Given the description of an element on the screen output the (x, y) to click on. 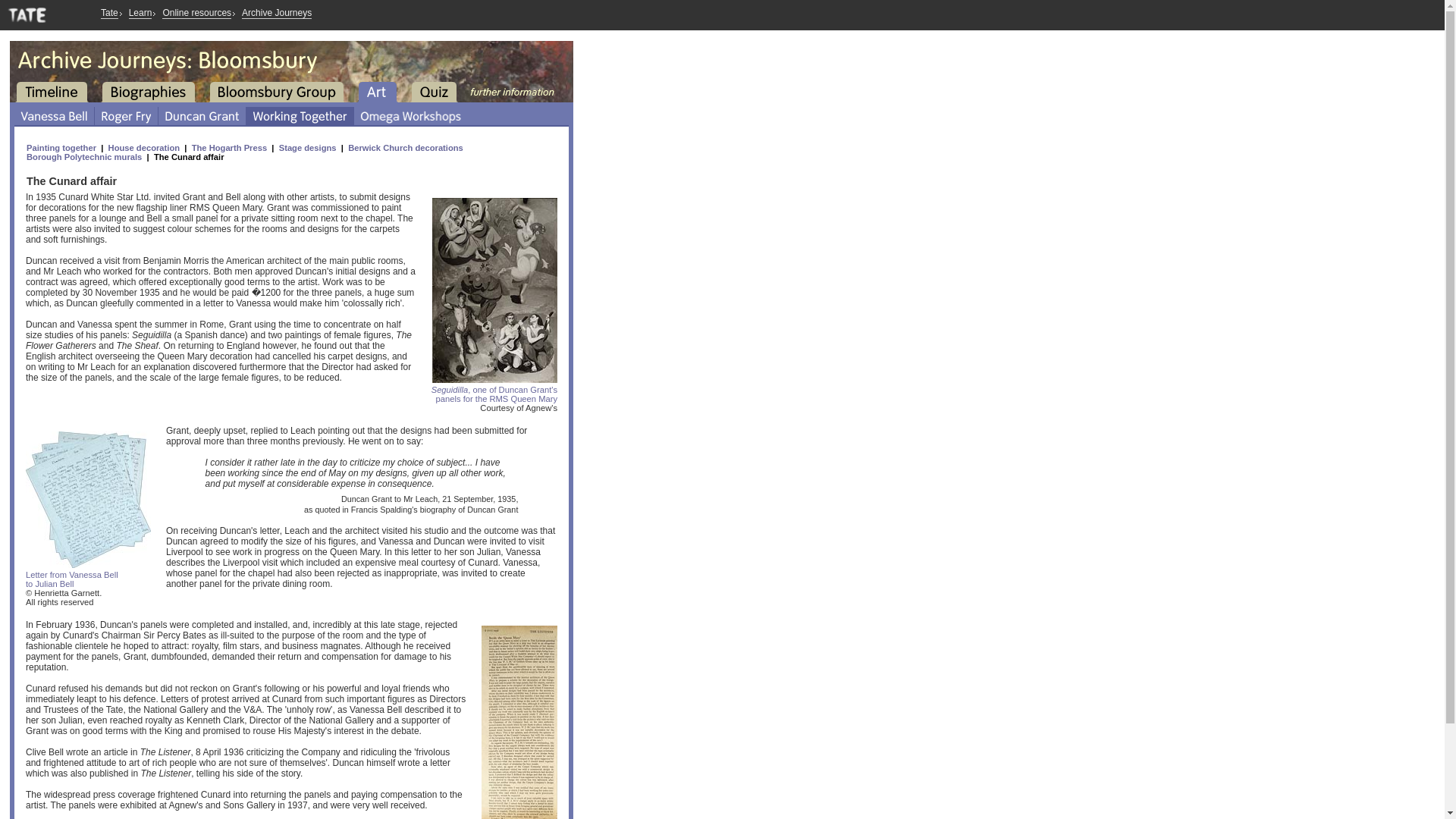
Tate (108, 12)
Borough Polytechnic murals (83, 156)
Online resources (196, 12)
Archive Journeys (276, 12)
Painting together (62, 147)
Stage designs (307, 147)
Learn (140, 12)
Berwick Church decorations (88, 575)
House decoration (405, 147)
The Hogarth Press (143, 147)
